Given the description of an element on the screen output the (x, y) to click on. 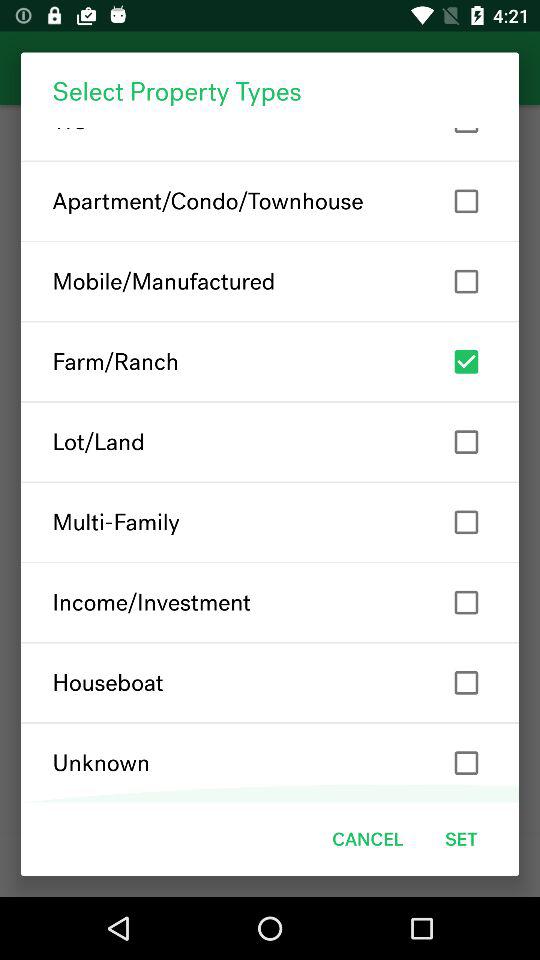
open the item above the multi-family item (270, 441)
